Given the description of an element on the screen output the (x, y) to click on. 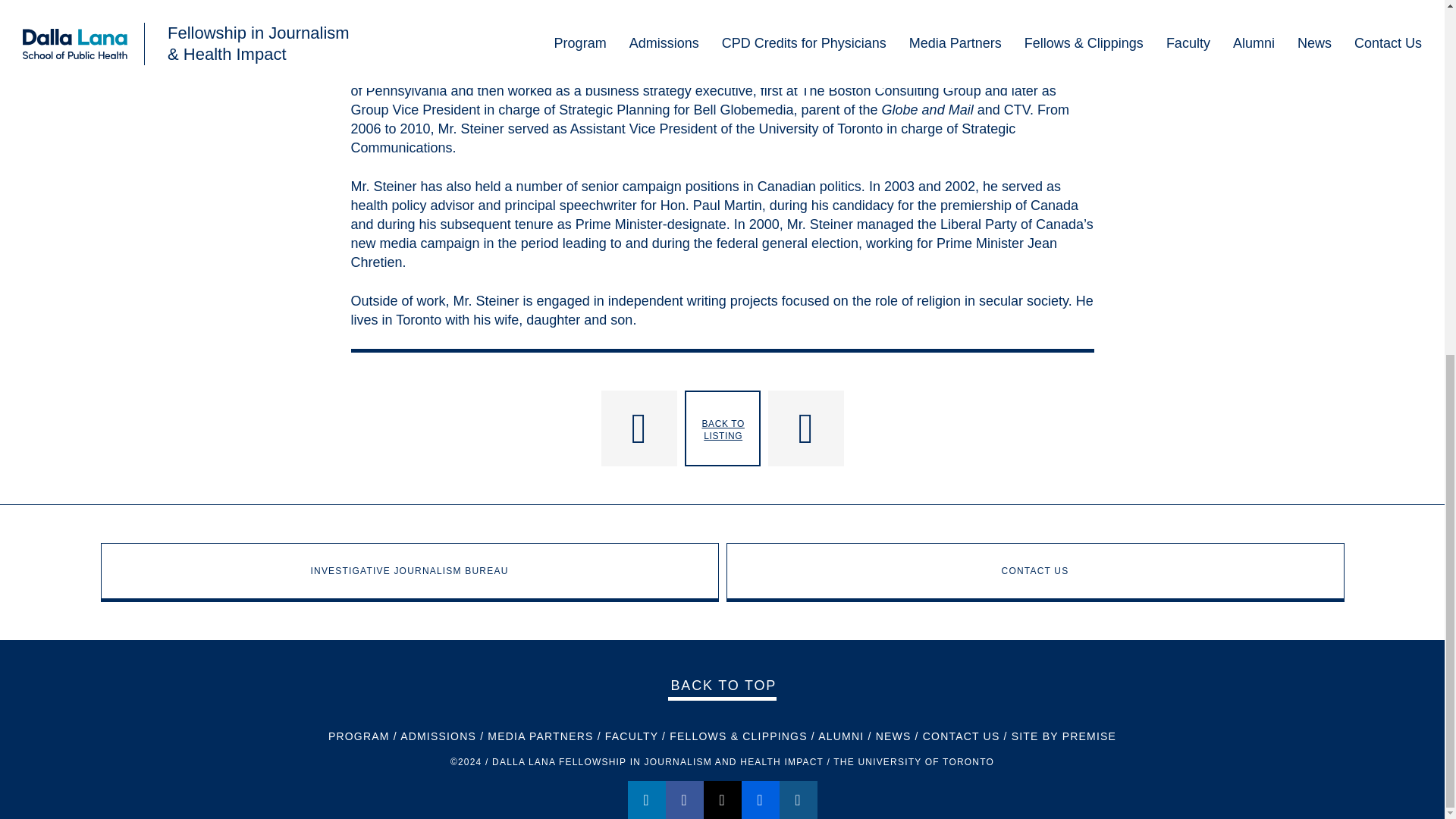
Weisz, David (930, 428)
MEDIA PARTNERS (539, 736)
NEWS (893, 736)
CONTACT US (961, 736)
ADMISSIONS (438, 736)
SITE BY PREMISE (1063, 736)
BACK TO LISTING (722, 428)
BACK TO TOP (722, 685)
FACULTY (631, 736)
ALUMNI (840, 736)
